Given the description of an element on the screen output the (x, y) to click on. 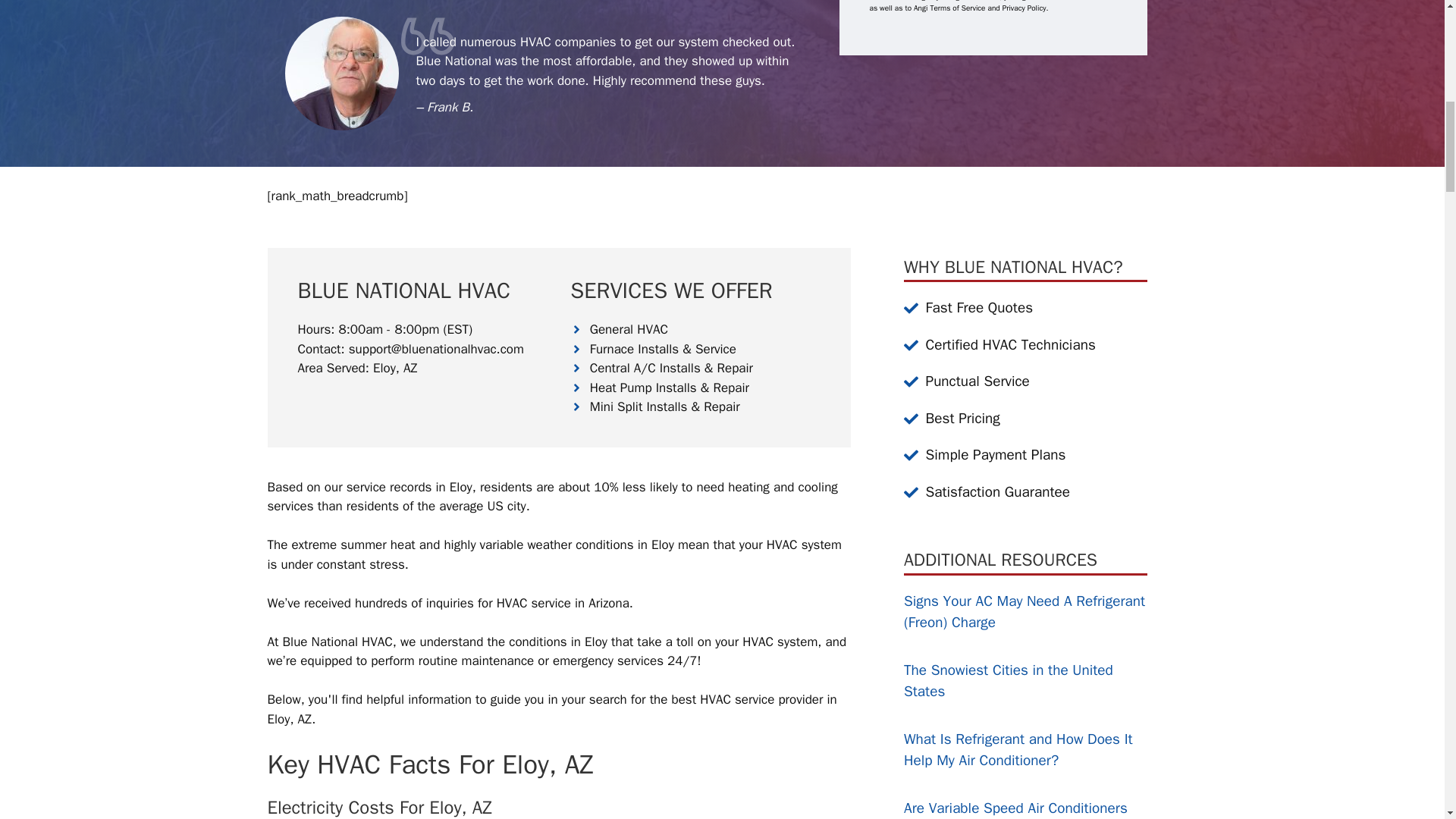
What Is Refrigerant and How Does It Help My Air Conditioner? (1018, 750)
Are Variable Speed Air Conditioners Worth The Cost? (1015, 809)
The Snowiest Cities in the United States (1008, 680)
